Given the description of an element on the screen output the (x, y) to click on. 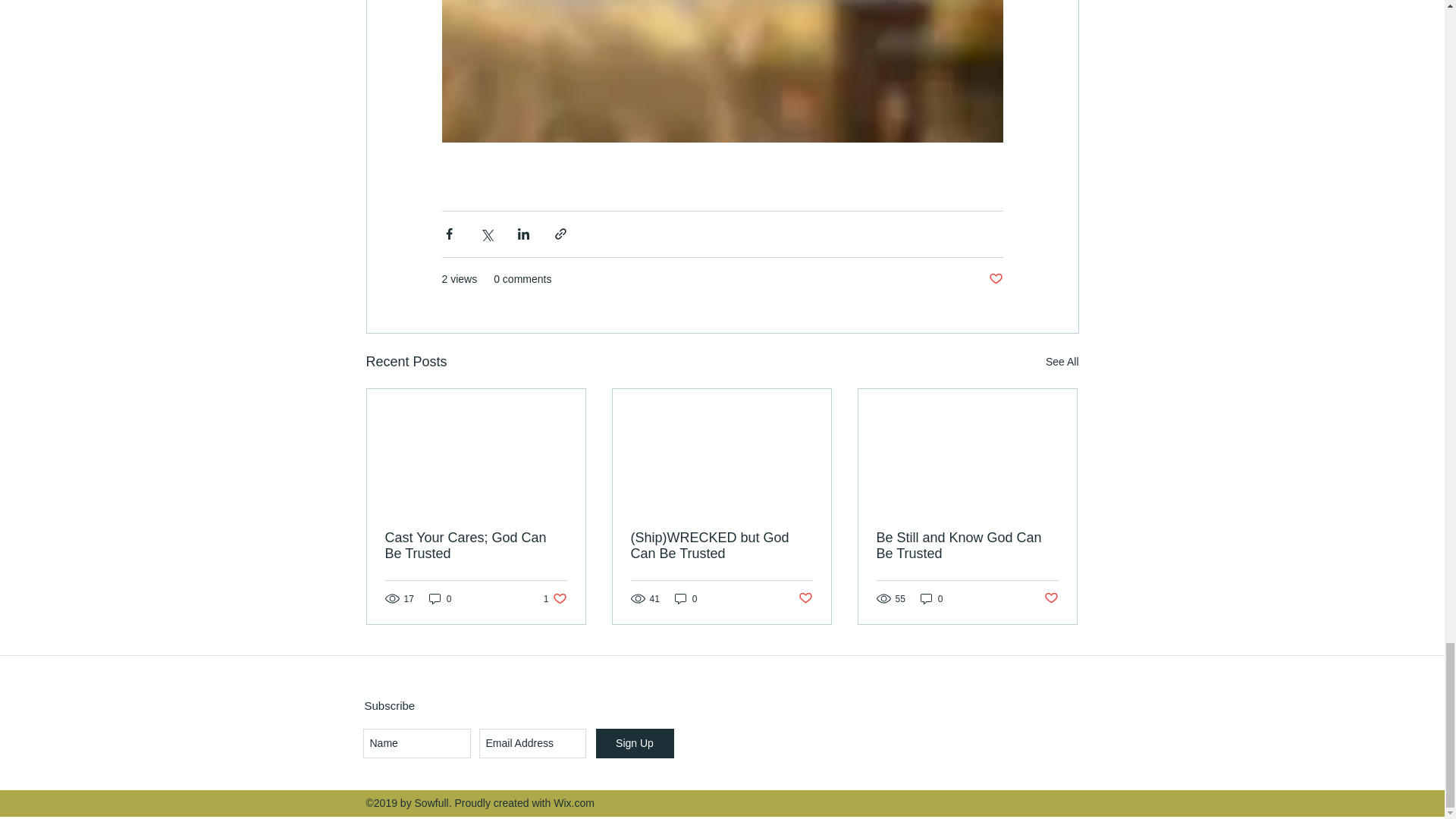
Post not marked as liked (804, 598)
0 (685, 598)
See All (1061, 362)
0 (931, 598)
Cast Your Cares; God Can Be Trusted (555, 598)
Post not marked as liked (476, 545)
0 (1050, 598)
Be Still and Know God Can Be Trusted (440, 598)
Post not marked as liked (967, 545)
